Given the description of an element on the screen output the (x, y) to click on. 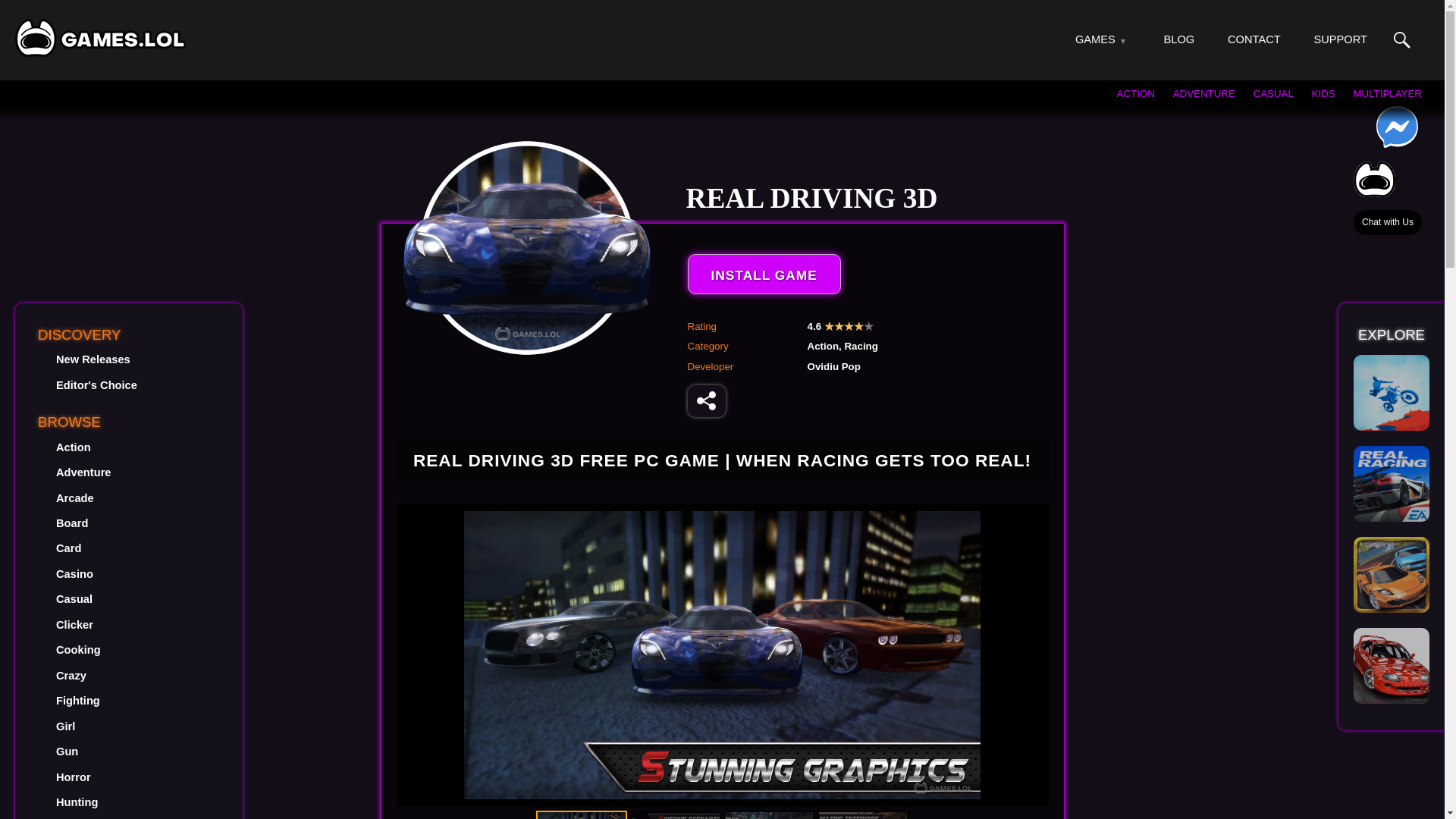
Play Psebay: Gravity Moto Trials on PC (1391, 392)
New Releases (93, 358)
SUPPORT (1340, 39)
MULTIPLAYER (1387, 93)
BLOG (1179, 39)
KIDS (1323, 93)
CONTACT (1254, 39)
Play Street Racing on PC (1391, 665)
ADVENTURE (1203, 93)
Editor's Choice (96, 385)
CASUAL (1273, 93)
Play Turbo Driving Racing 3D on PC (1391, 574)
Games.lol free game download website logo (100, 37)
ACTION (1135, 93)
Play Real Racing 3 on PC (1391, 483)
